Given the description of an element on the screen output the (x, y) to click on. 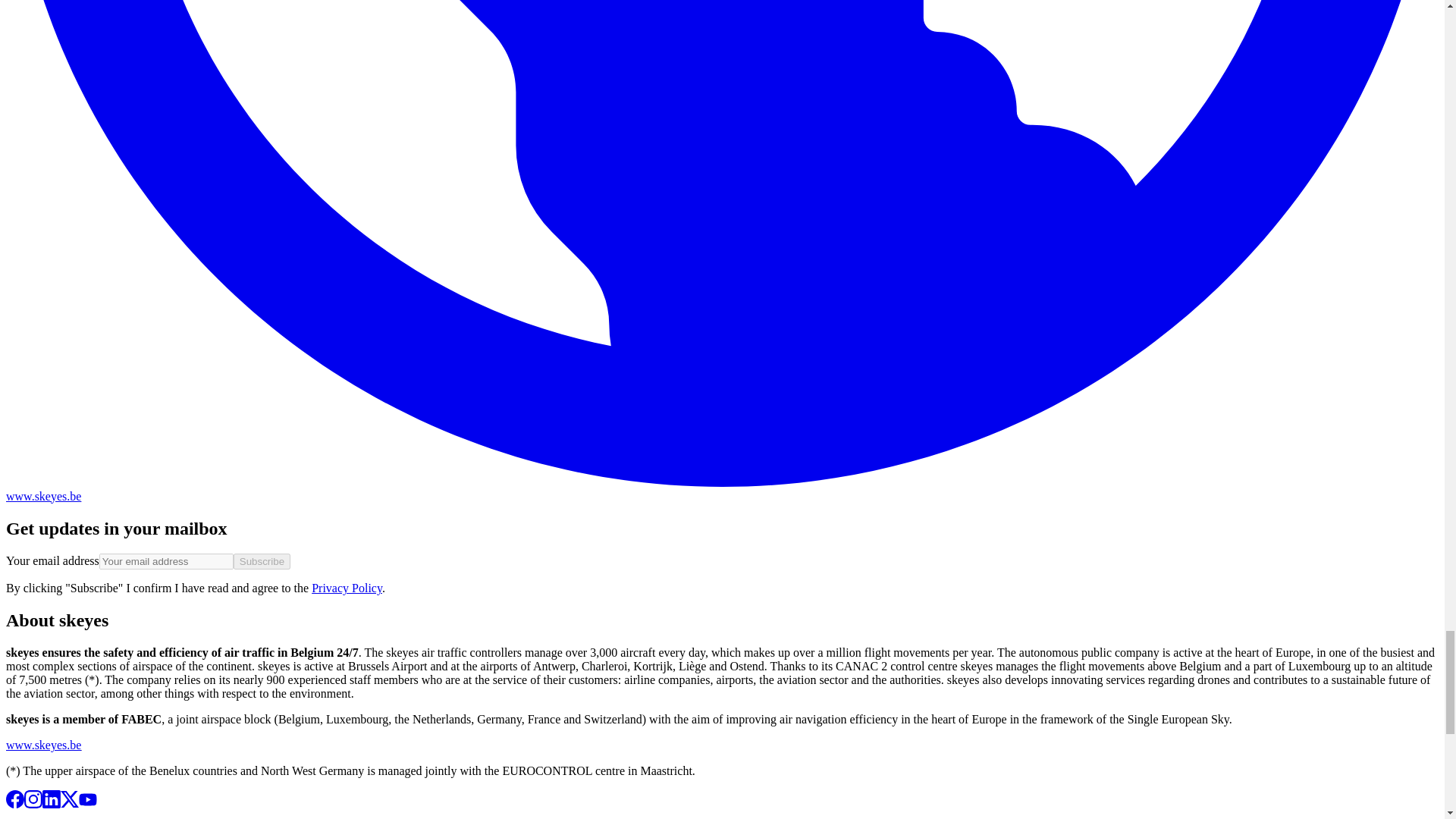
LinkedIn (51, 803)
Subscribe (260, 561)
www.skeyes.be (43, 744)
Youtube (87, 803)
Instagram (33, 803)
Facebook (14, 803)
X (69, 803)
Privacy Policy (346, 587)
